Given the description of an element on the screen output the (x, y) to click on. 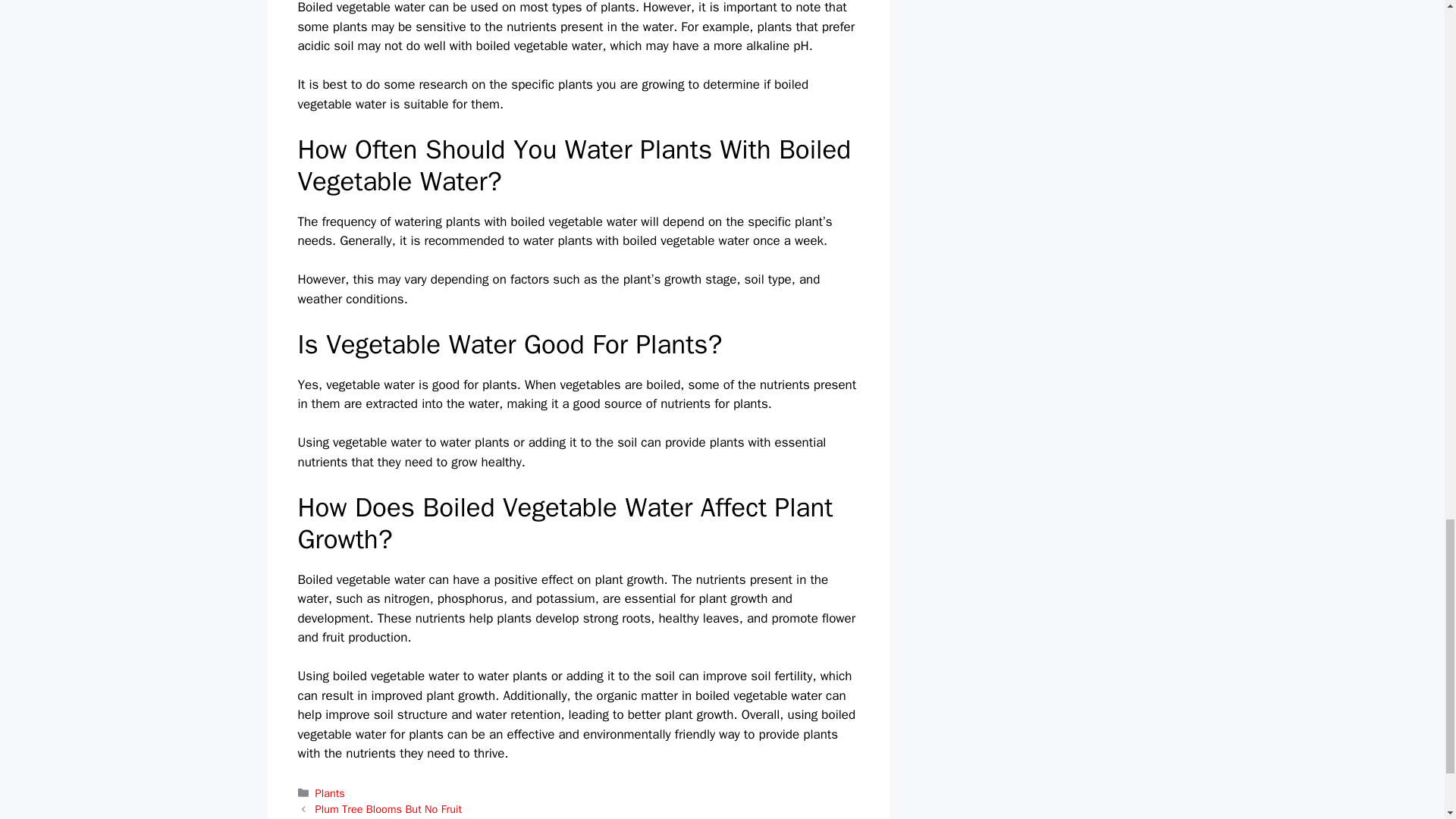
Plants (330, 793)
Plum Tree Blooms But No Fruit (388, 808)
